Given the description of an element on the screen output the (x, y) to click on. 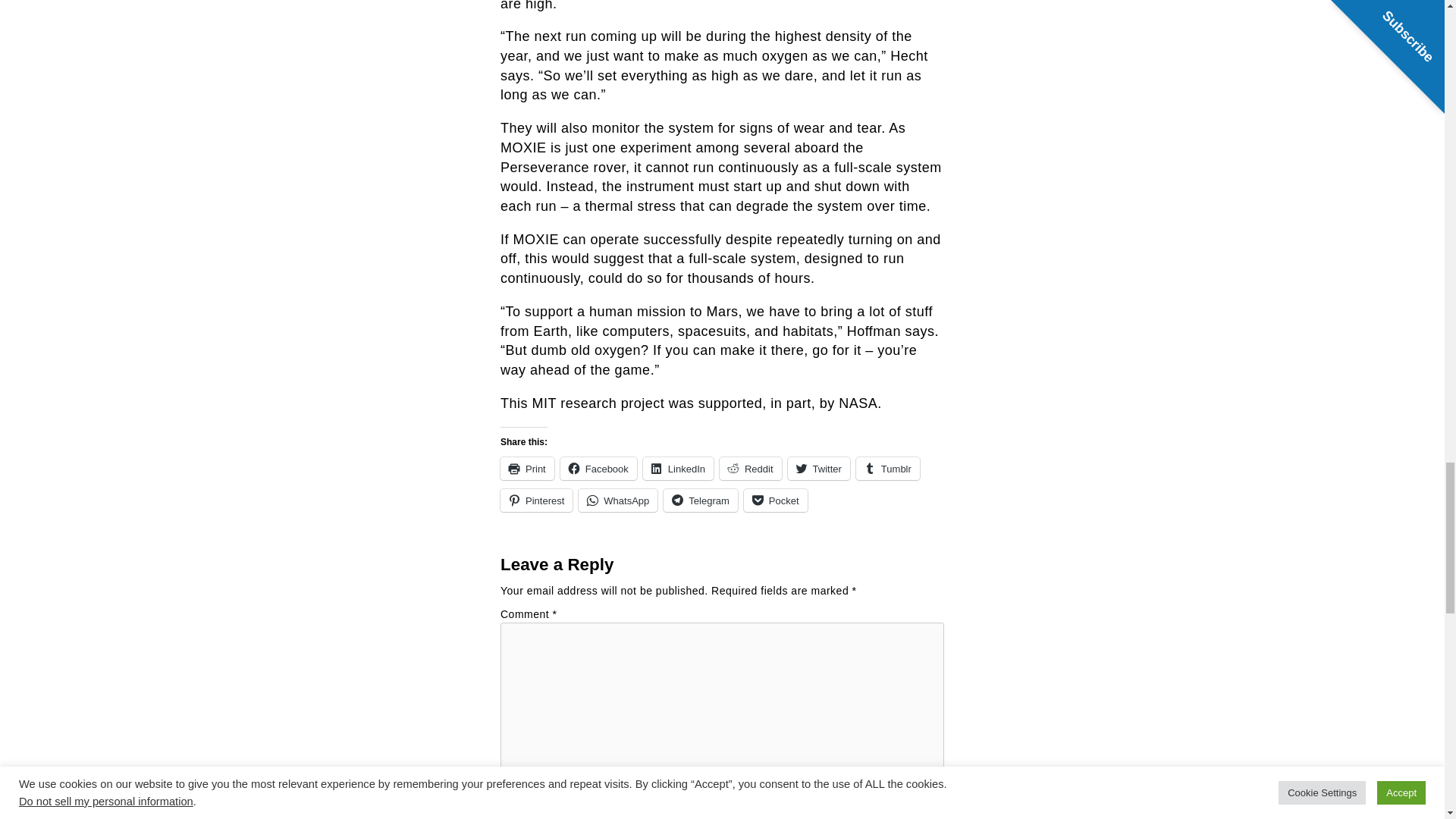
Click to share on Pinterest (536, 499)
Click to share on Tumblr (888, 468)
Click to share on Facebook (598, 468)
Click to print (527, 468)
Click to share on Reddit (750, 468)
Click to share on LinkedIn (678, 468)
Click to share on Telegram (699, 499)
Click to share on Pocket (776, 499)
Click to share on WhatsApp (618, 499)
Click to share on Twitter (818, 468)
